Given the description of an element on the screen output the (x, y) to click on. 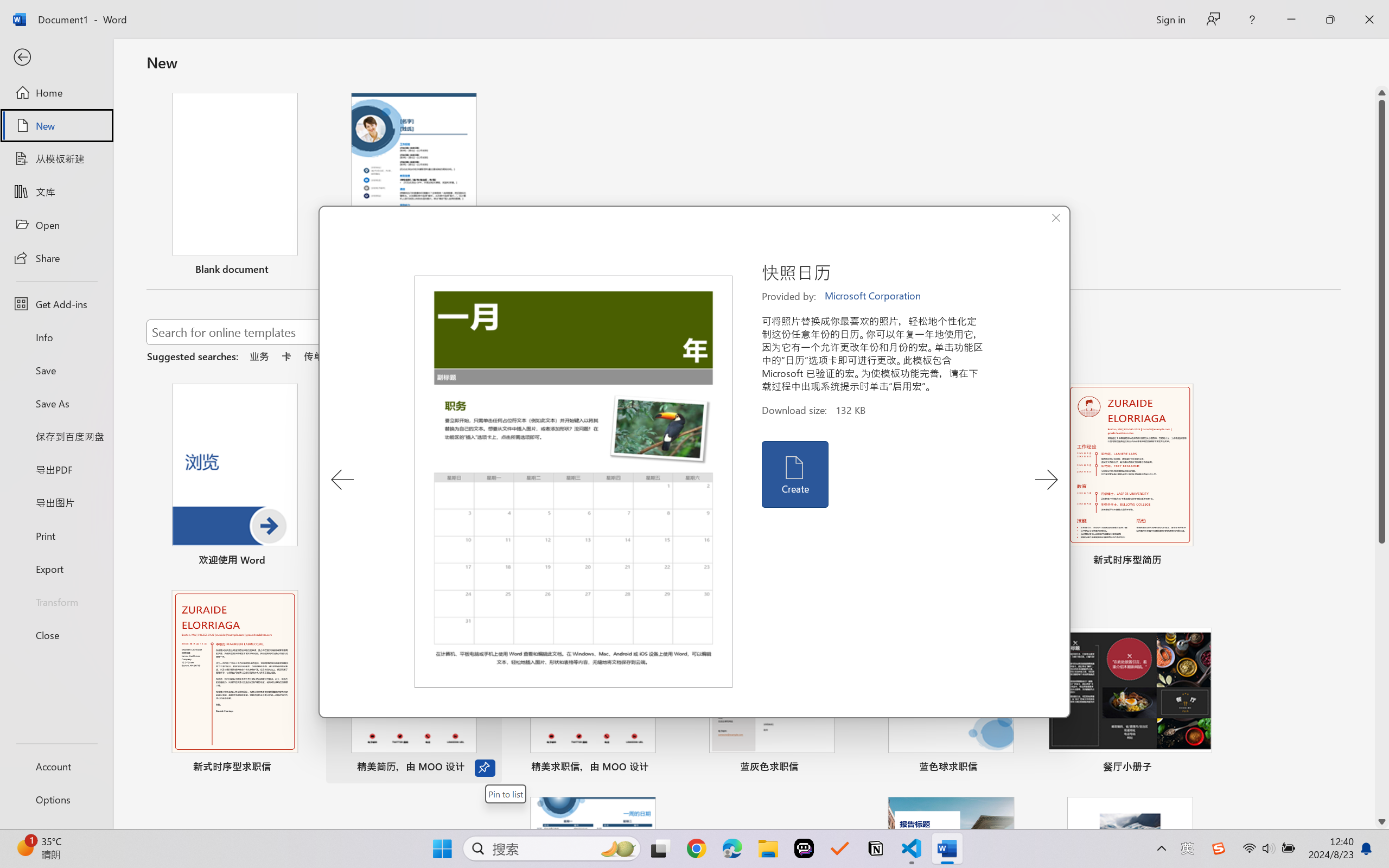
Account (56, 765)
Transform (56, 601)
Export (56, 568)
Unpin from list (485, 270)
Save As (56, 403)
